Given the description of an element on the screen output the (x, y) to click on. 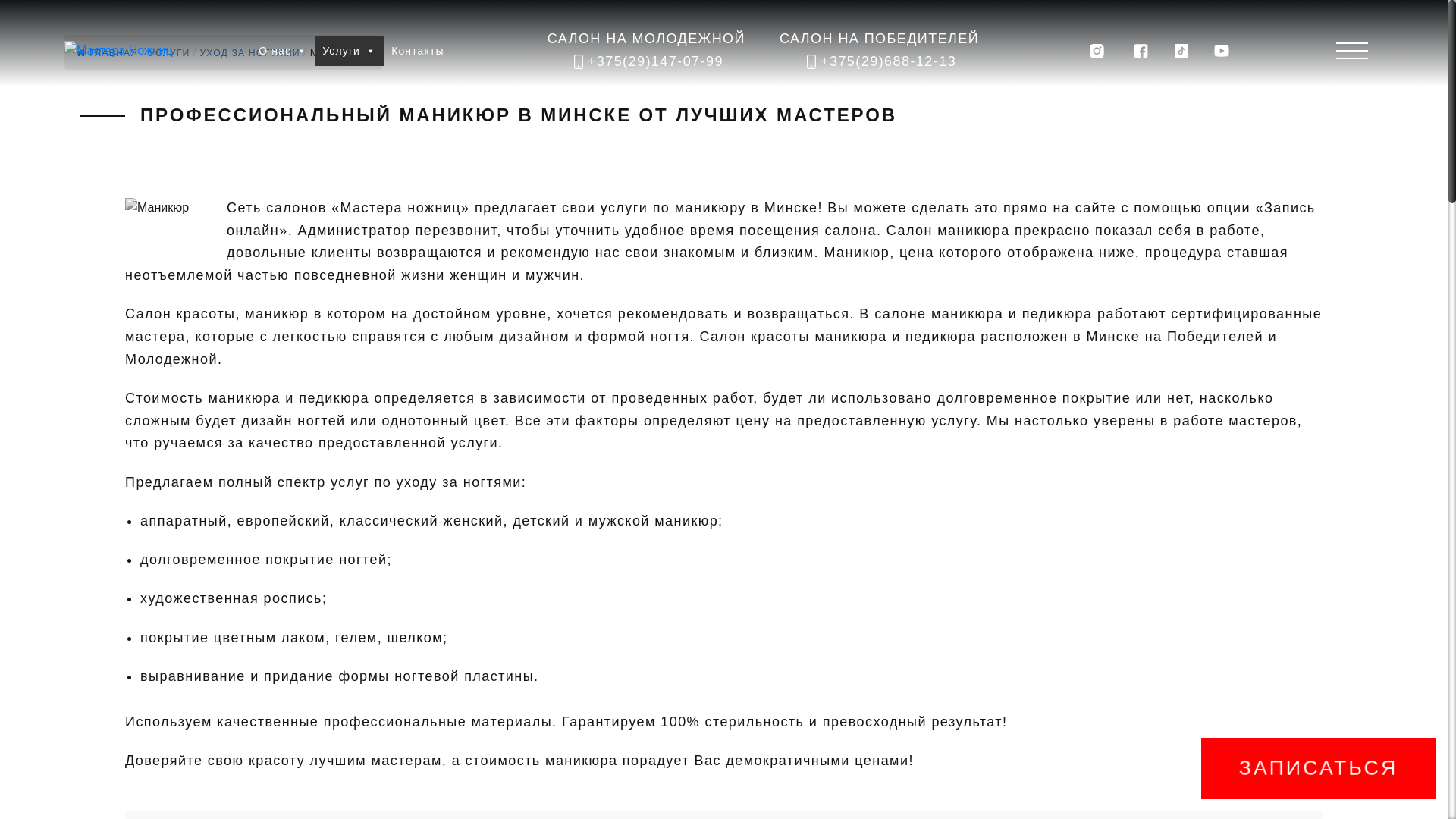
+375(29)688-12-13 Element type: text (879, 61)
+375(29)147-07-99 Element type: text (646, 61)
